Given the description of an element on the screen output the (x, y) to click on. 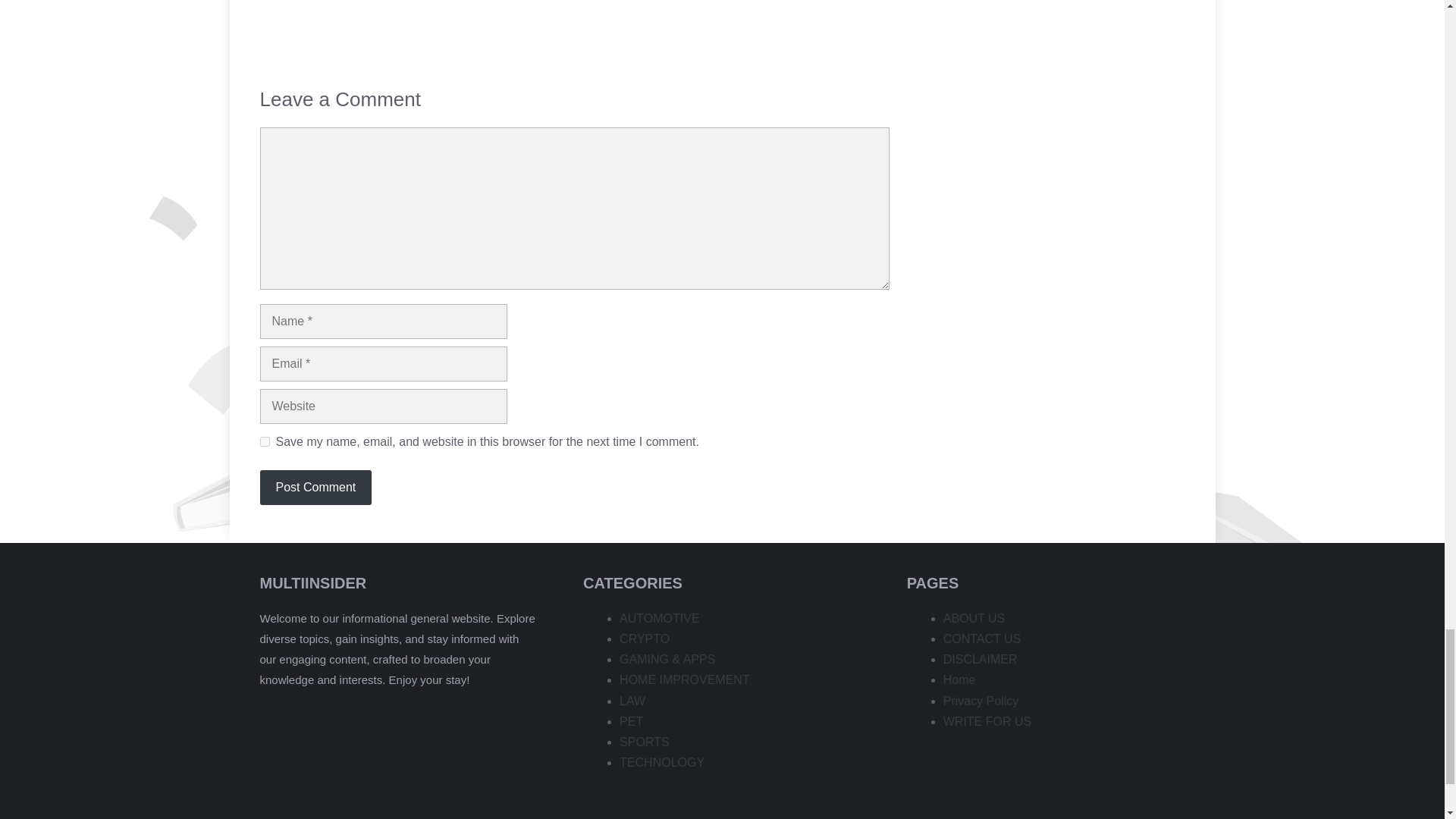
yes (264, 441)
Post Comment (315, 487)
Post Comment (315, 487)
